Given the description of an element on the screen output the (x, y) to click on. 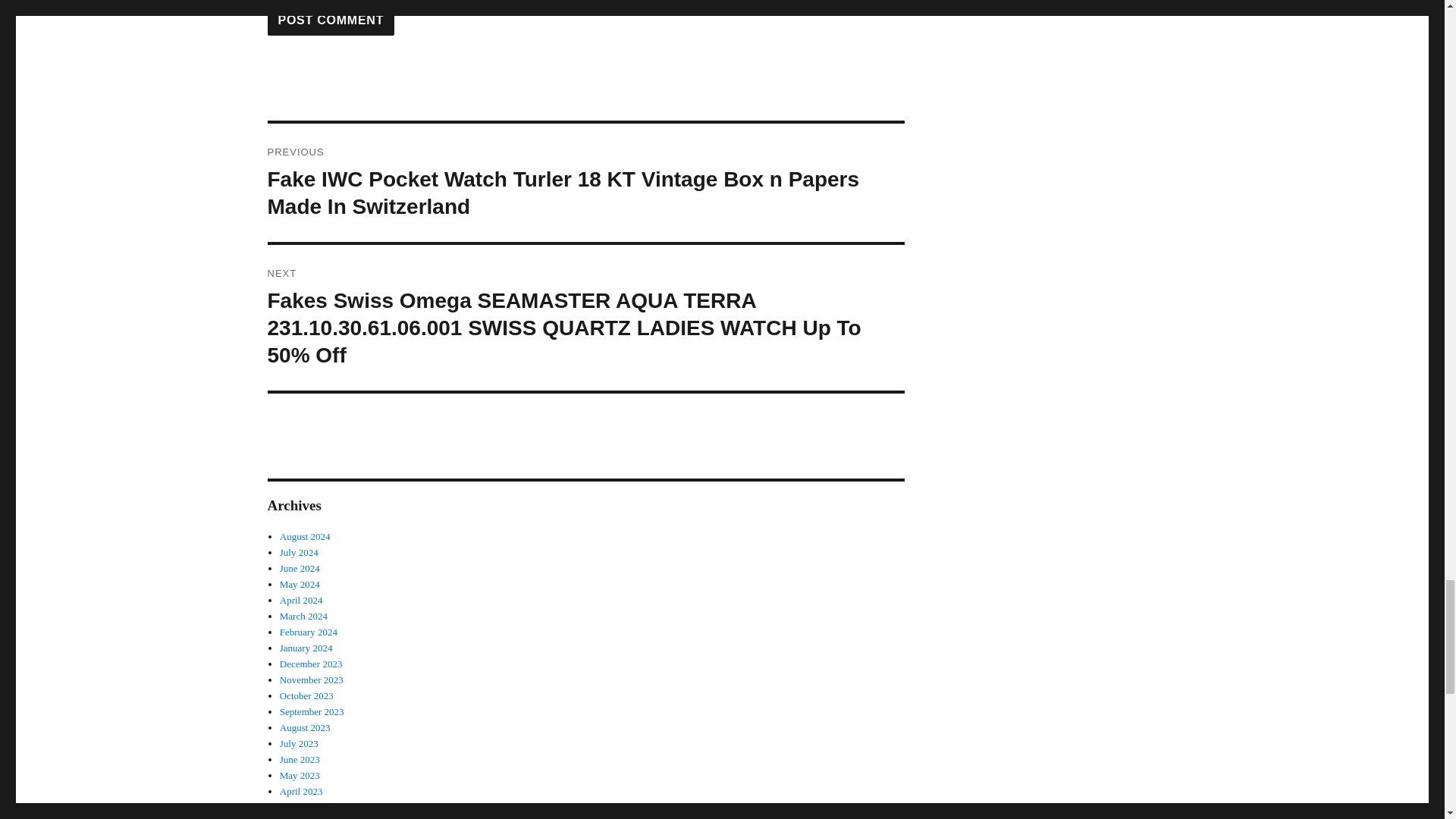
May 2024 (299, 583)
June 2024 (299, 568)
January 2024 (306, 647)
February 2024 (308, 632)
November 2023 (311, 679)
July 2024 (298, 552)
December 2023 (310, 663)
April 2024 (301, 600)
April 2023 (301, 790)
Post Comment (330, 20)
